Given the description of an element on the screen output the (x, y) to click on. 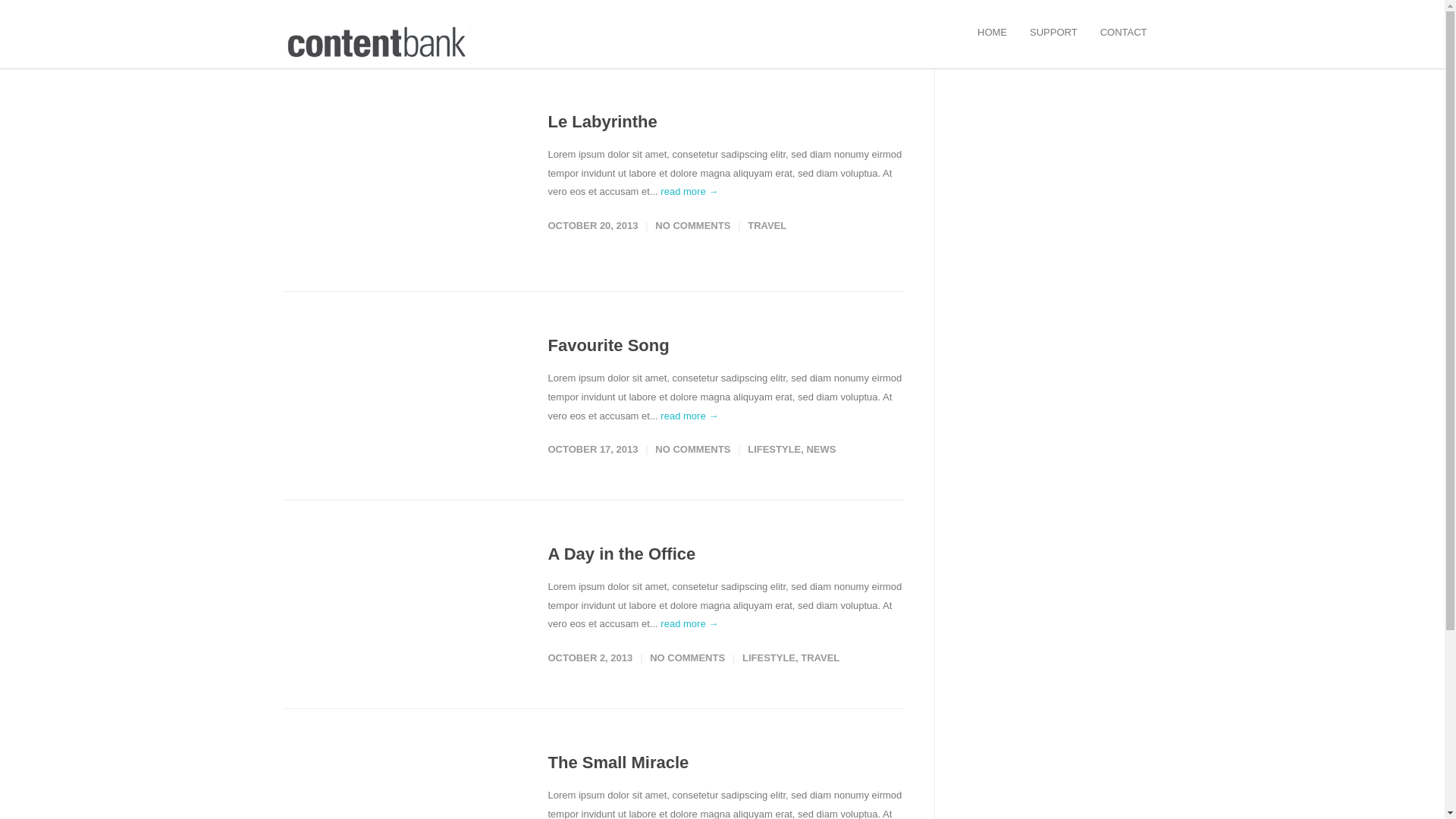
LIFESTYLE Element type: text (768, 657)
NO COMMENTS Element type: text (686, 657)
SUPPORT Element type: text (1053, 31)
HOME Element type: text (992, 31)
A Day in the Office Element type: text (621, 553)
The Small Miracle Element type: text (617, 762)
Favourite Song Element type: text (607, 344)
CONTACT Element type: text (1123, 31)
TRAVEL Element type: text (819, 657)
NO COMMENTS Element type: text (692, 225)
NEWS Element type: text (820, 449)
TRAVEL Element type: text (766, 225)
LIFESTYLE Element type: text (773, 449)
Forest: Just One Day Element type: hover (399, 179)
NO COMMENTS Element type: text (692, 449)
Le Labyrinthe Element type: text (601, 121)
